Given the description of an element on the screen output the (x, y) to click on. 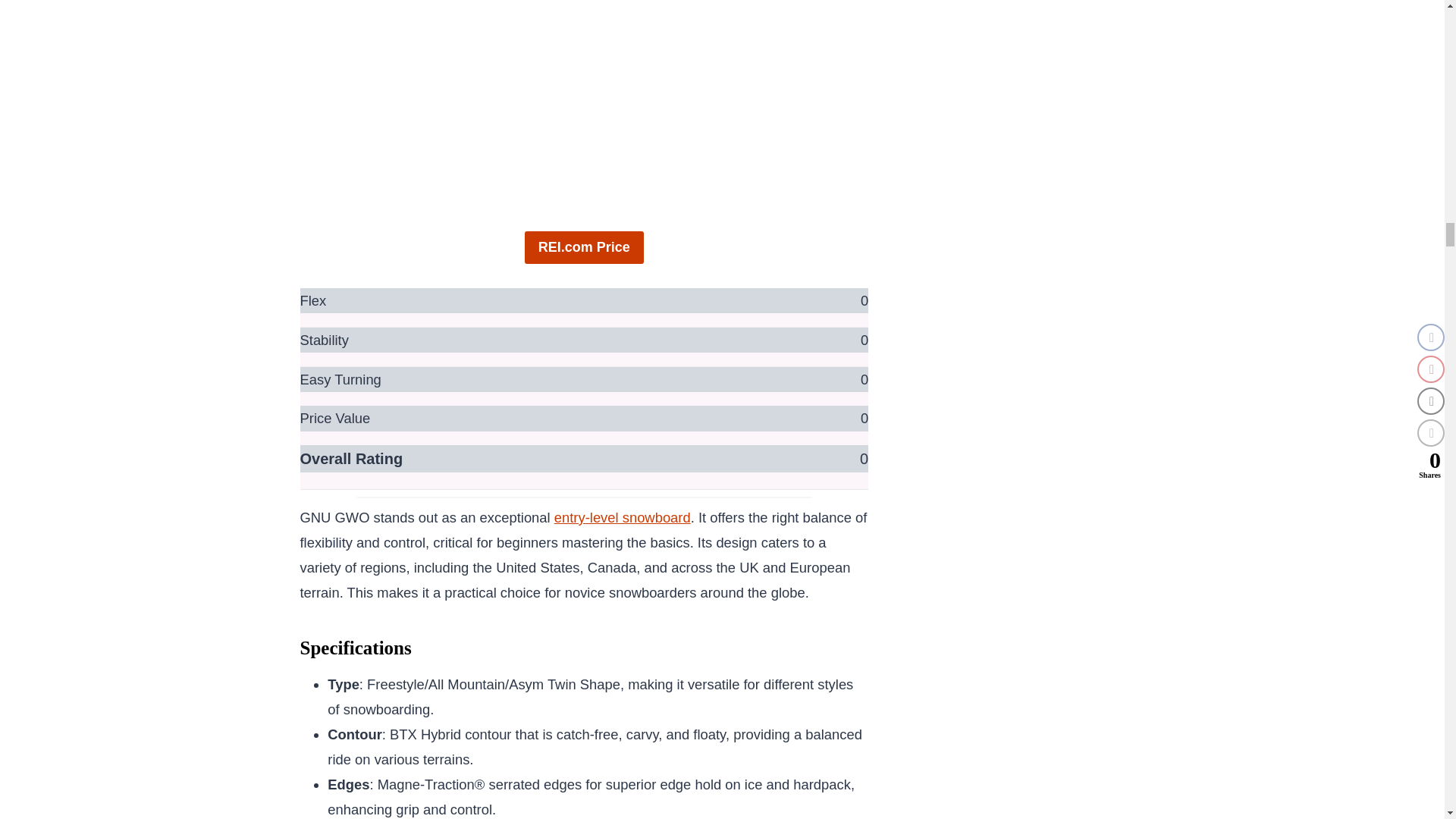
entry-level snowboard (622, 517)
